Given the description of an element on the screen output the (x, y) to click on. 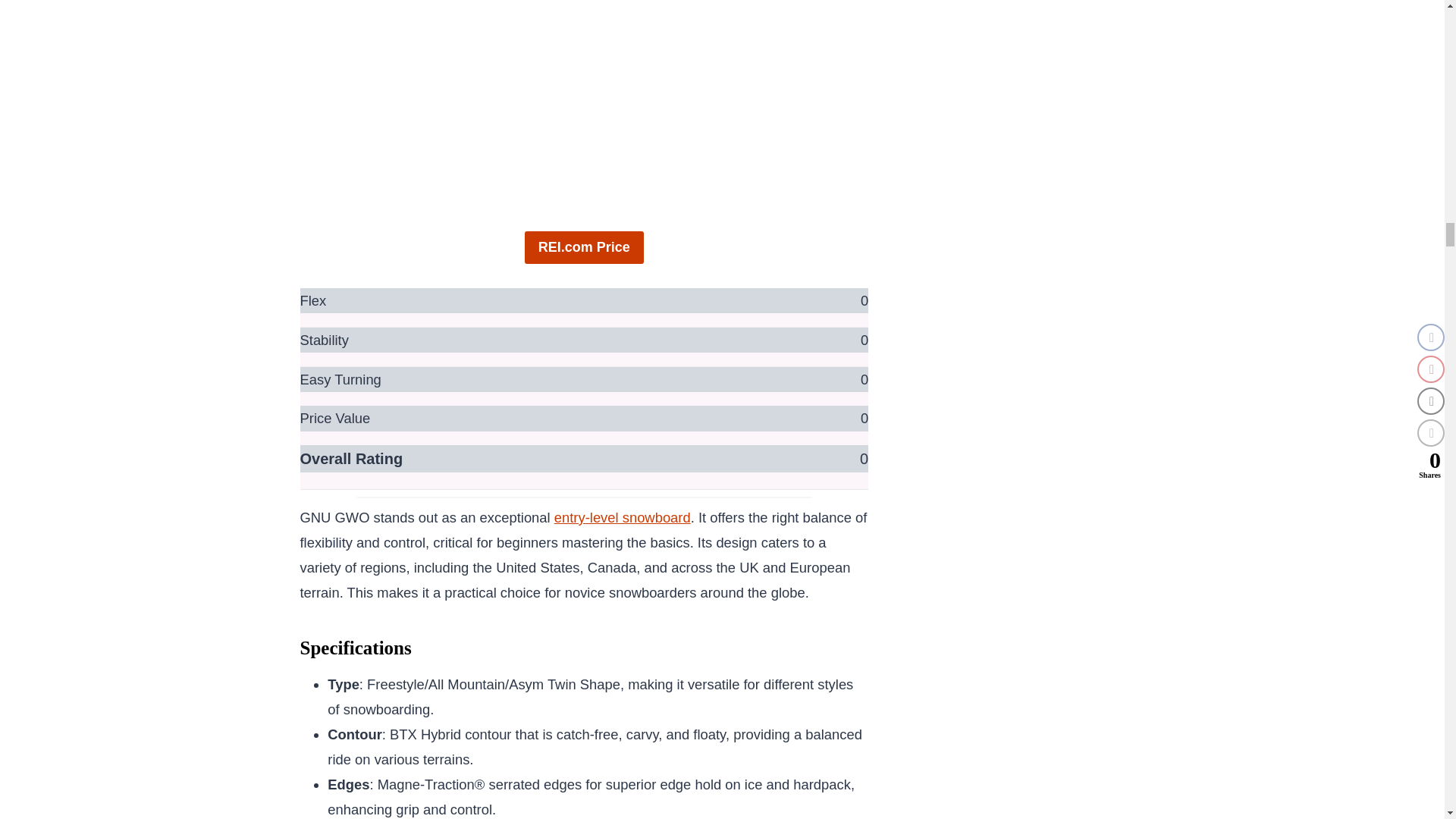
entry-level snowboard (622, 517)
